Given the description of an element on the screen output the (x, y) to click on. 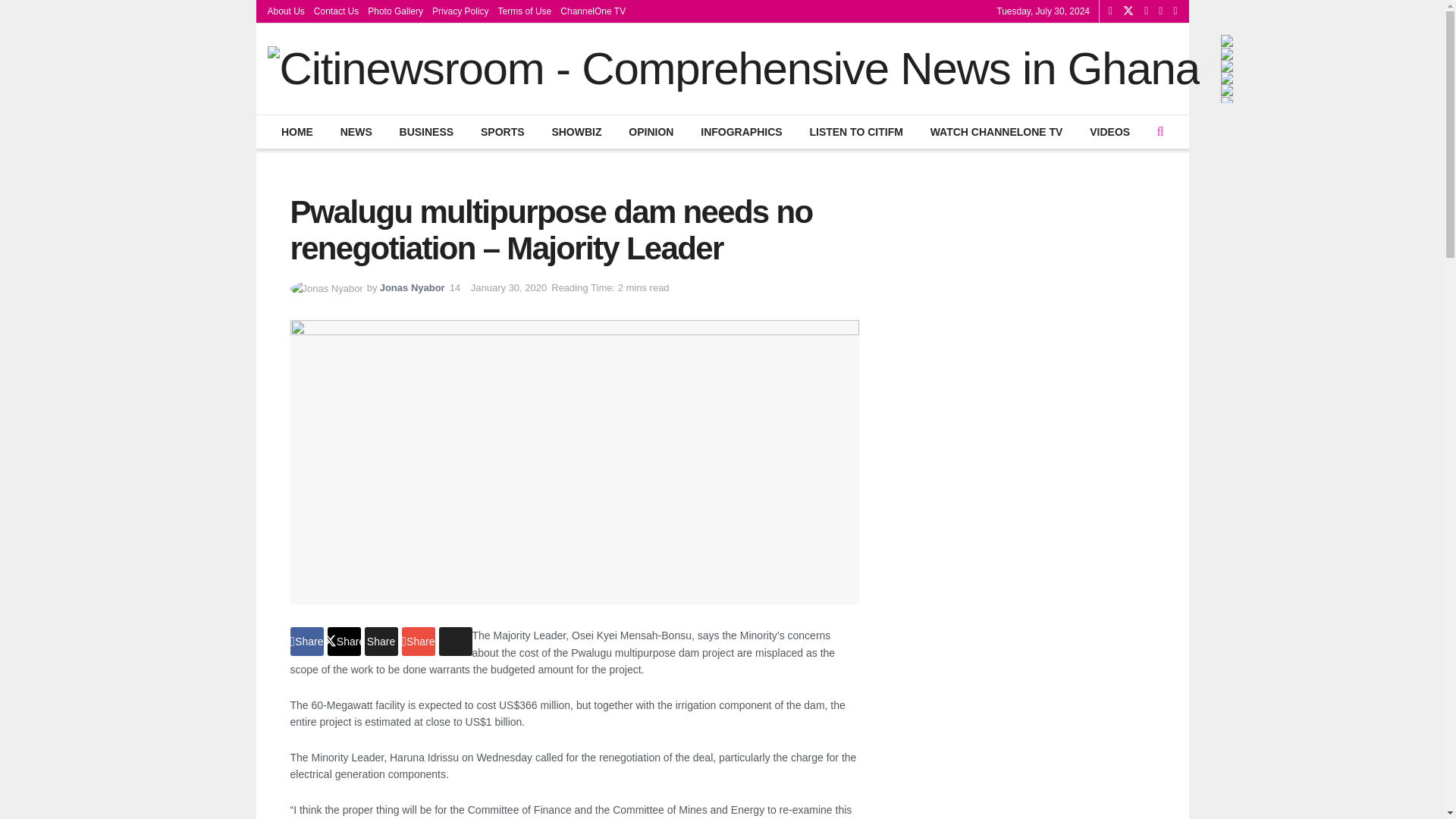
SHOWBIZ (576, 131)
OPINION (651, 131)
WATCH CHANNELONE TV (996, 131)
HOME (296, 131)
BUSINESS (425, 131)
ChannelOne TV (593, 11)
INFOGRAPHICS (740, 131)
LISTEN TO CITIFM (855, 131)
About Us (285, 11)
Privacy Policy (460, 11)
SPORTS (502, 131)
Terms of Use (524, 11)
VIDEOS (1109, 131)
Contact Us (336, 11)
NEWS (355, 131)
